Given the description of an element on the screen output the (x, y) to click on. 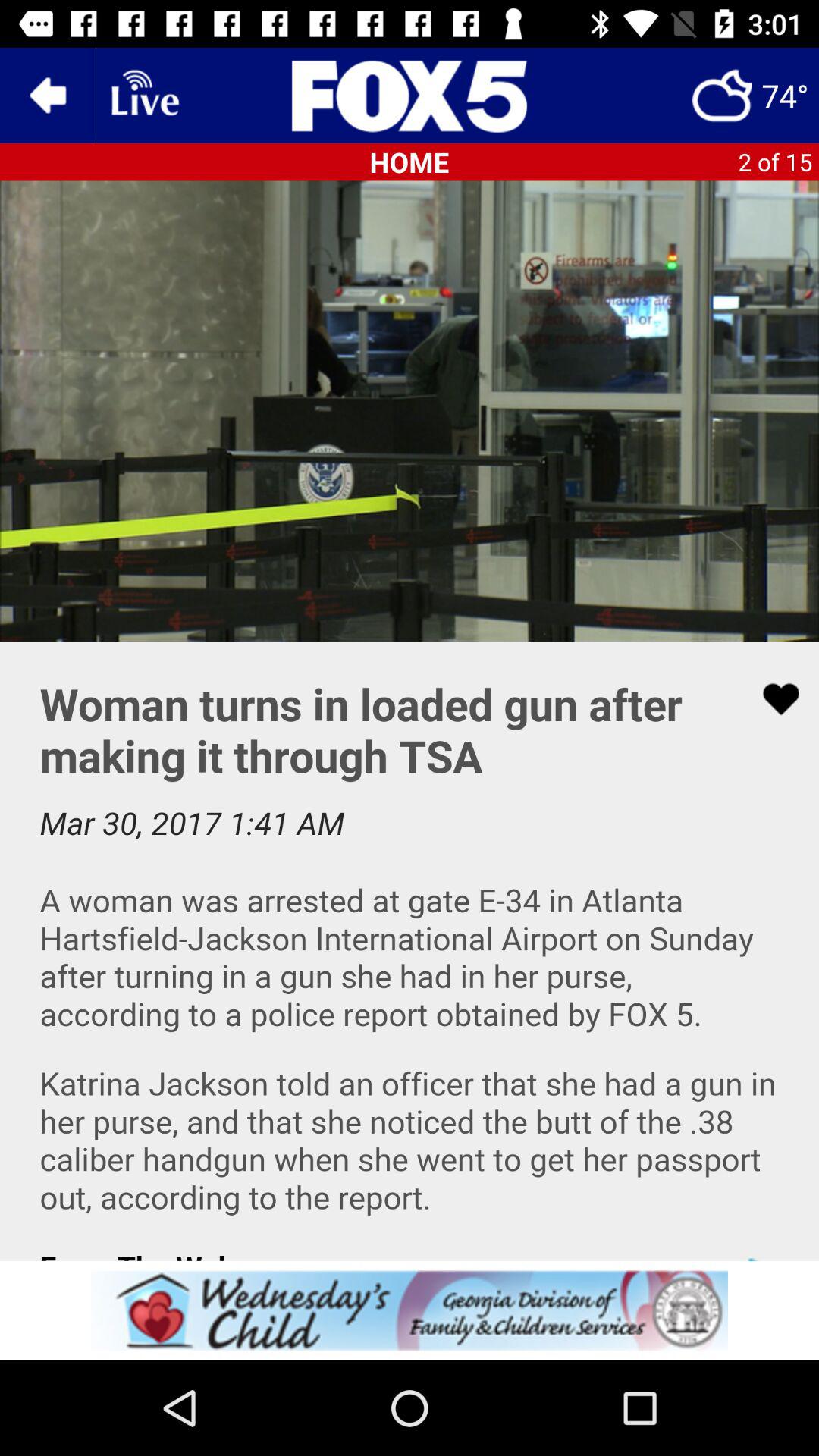
add to favorite (771, 699)
